Given the description of an element on the screen output the (x, y) to click on. 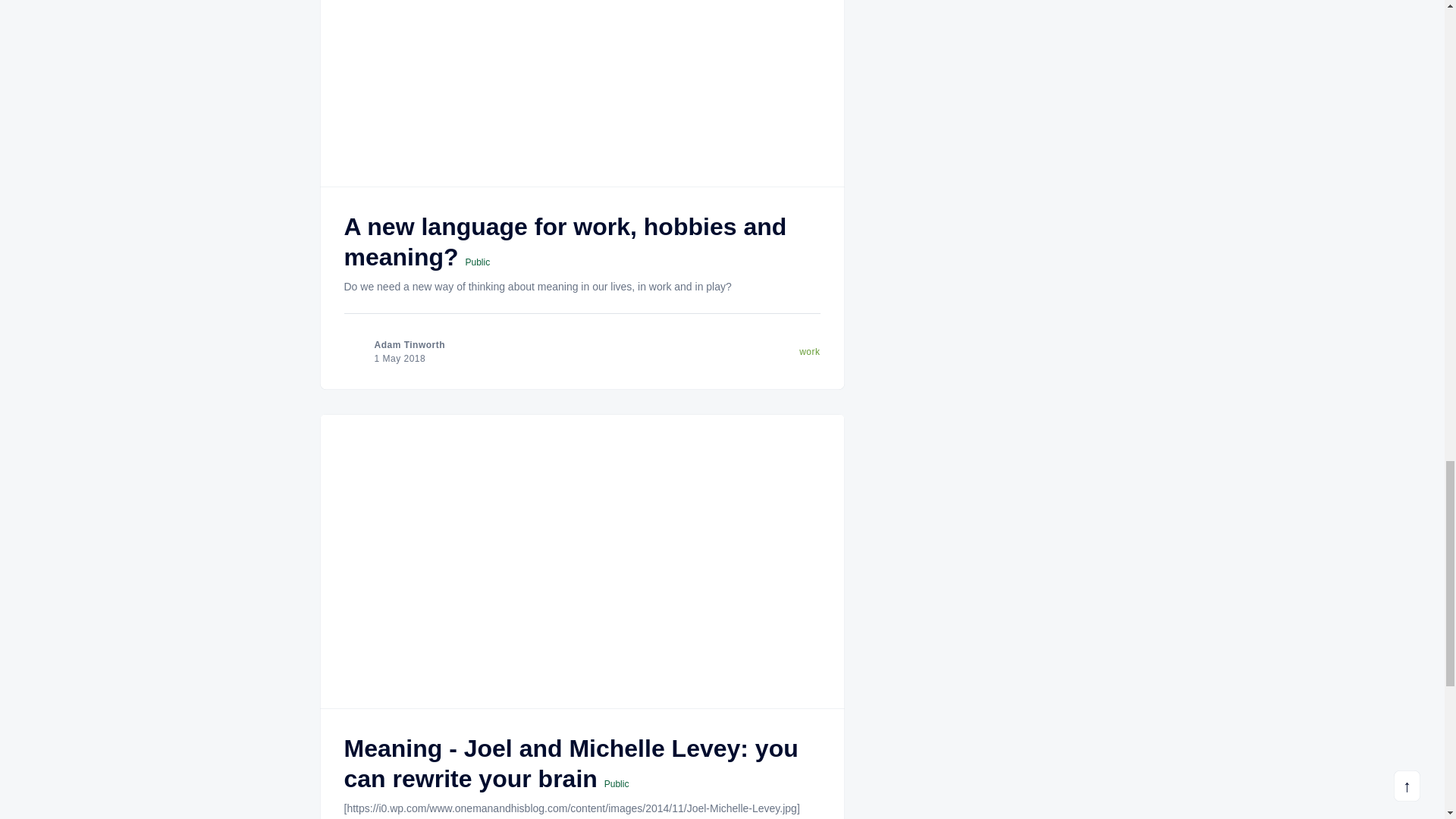
work (809, 351)
Adam Tinworth (409, 344)
A new language for work, hobbies and meaning? (565, 241)
